Given the description of an element on the screen output the (x, y) to click on. 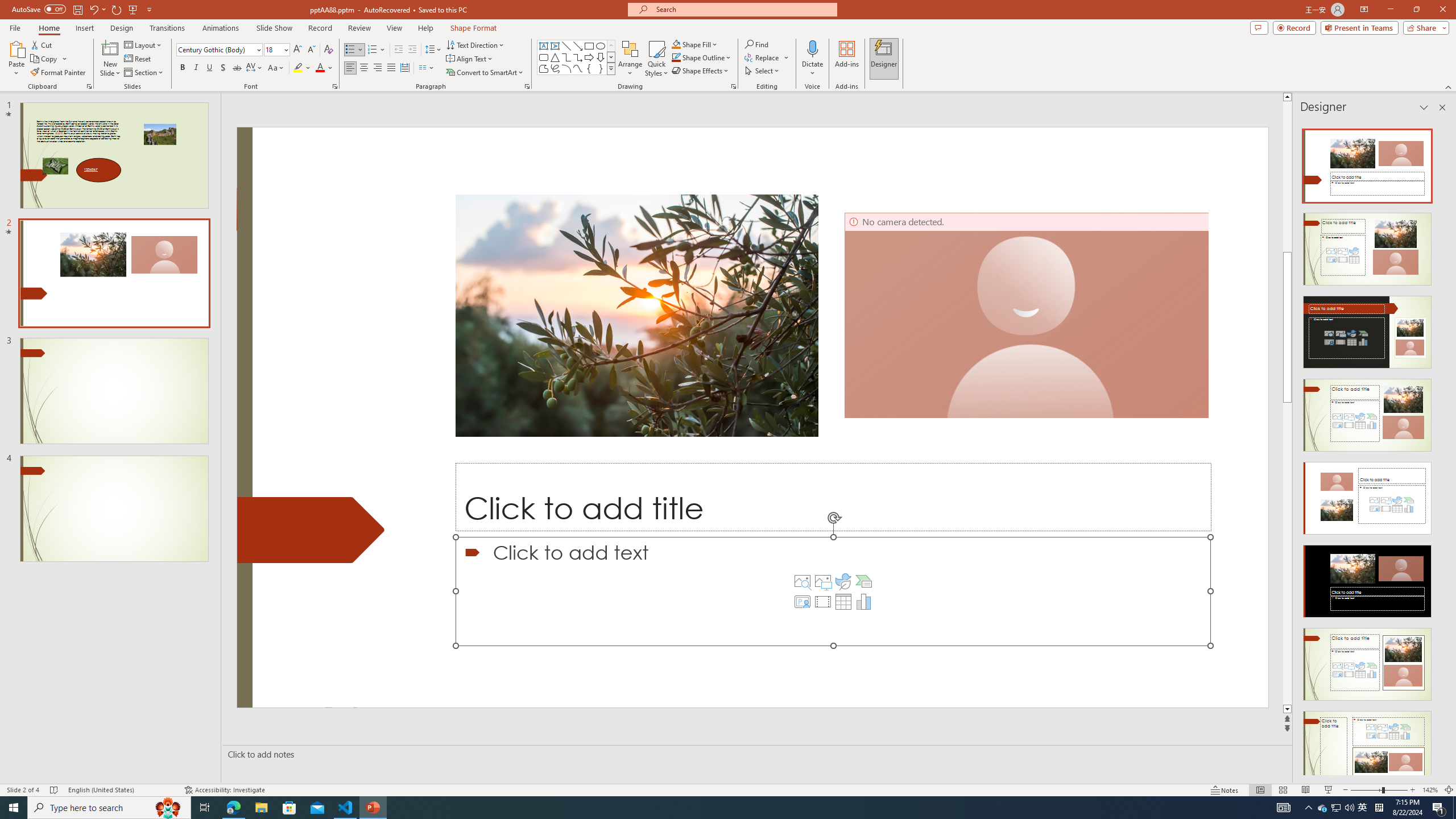
Task Pane Options (1423, 107)
Class: MsoCommandBar (728, 789)
Shape Fill (694, 44)
Arrow: Down (600, 57)
Section (144, 72)
Convert to SmartArt (485, 72)
Format Painter (58, 72)
Design Idea (1366, 743)
Decrease Font Size (310, 49)
Line up (1450, 96)
Accessibility Checker Accessibility: Investigate (224, 790)
